Given the description of an element on the screen output the (x, y) to click on. 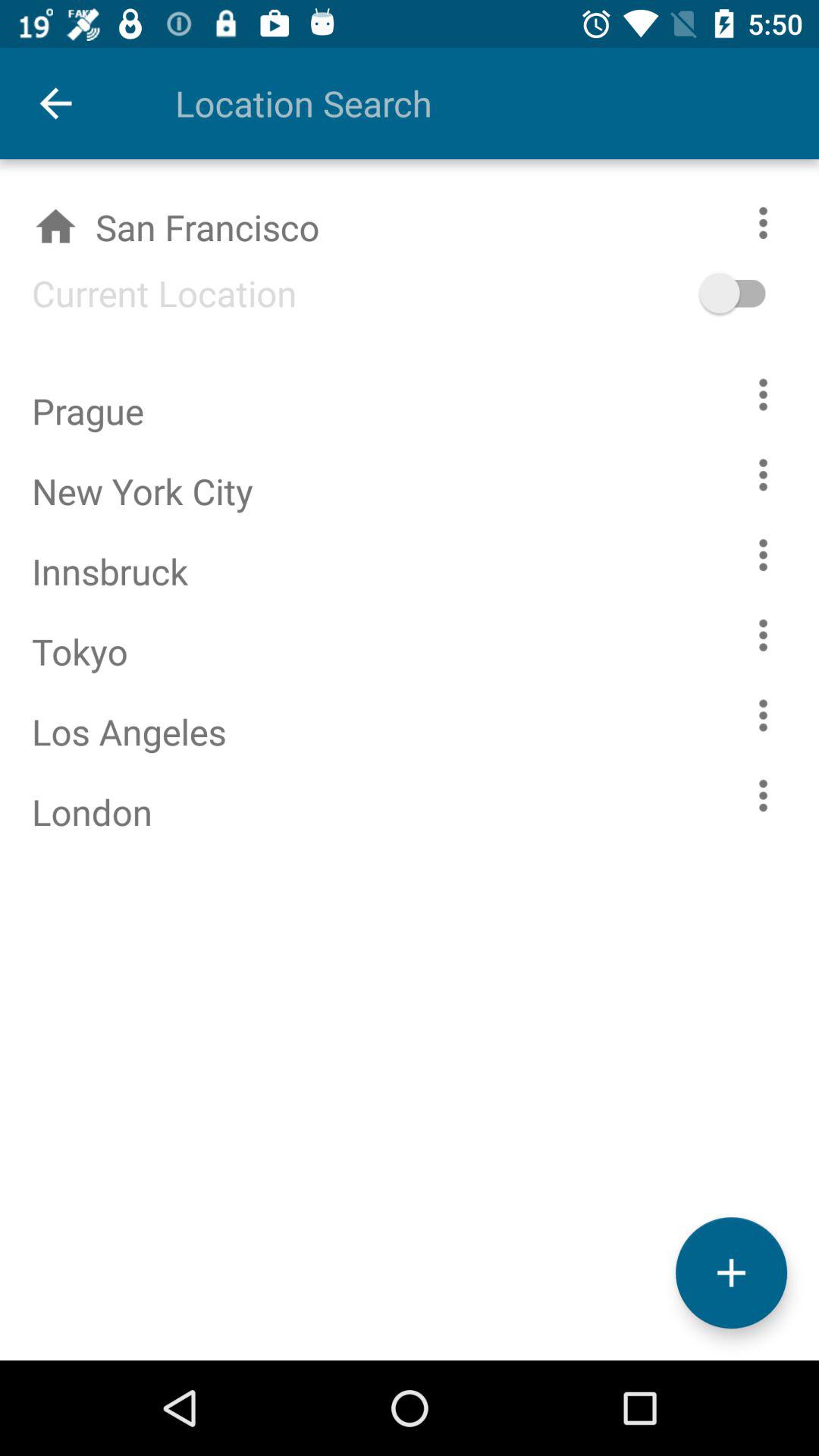
closes the page (731, 1272)
